Given the description of an element on the screen output the (x, y) to click on. 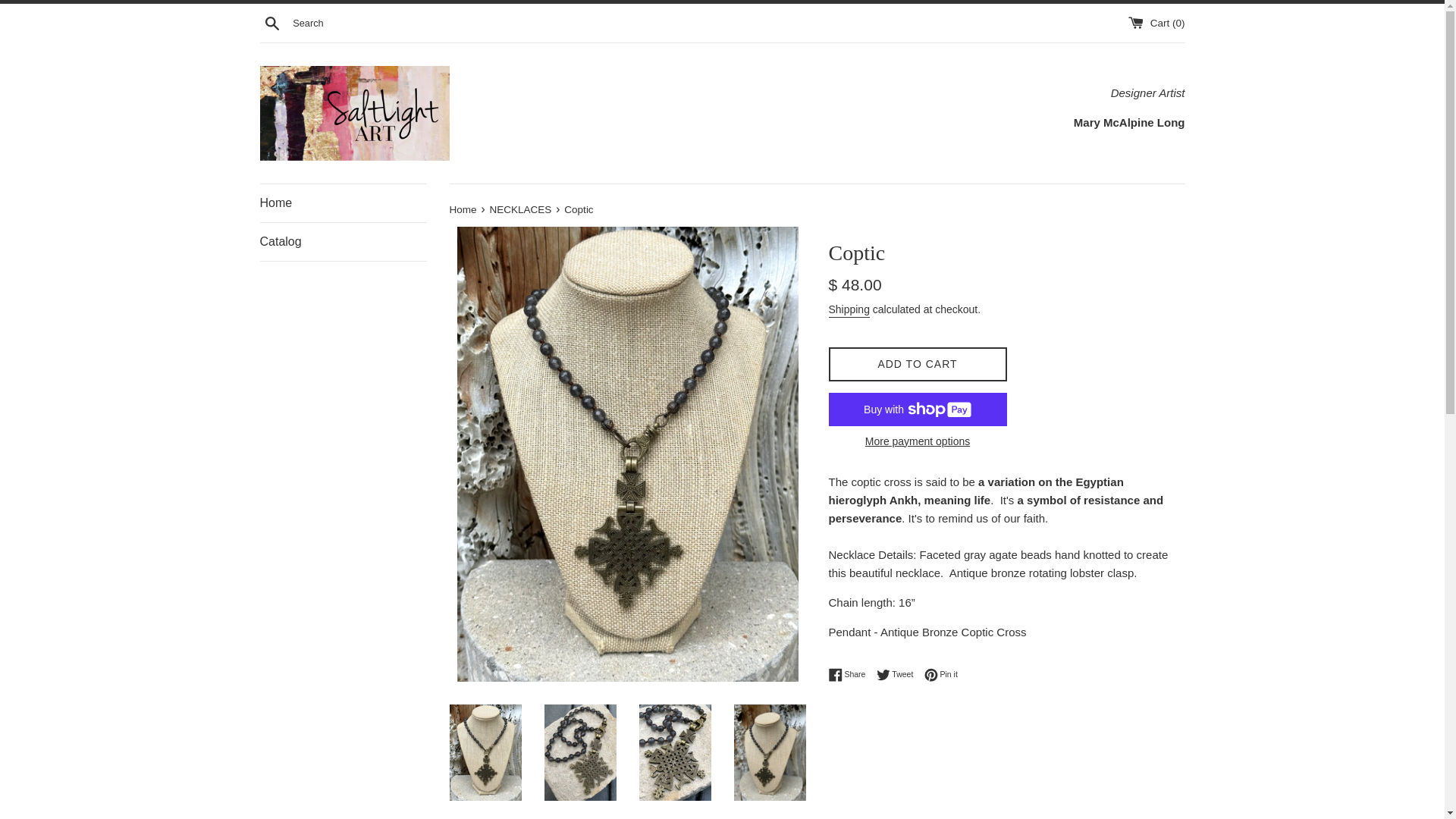
Shipping (848, 310)
Home (463, 209)
NECKLACES (521, 209)
Back to the frontpage (463, 209)
Tweet on Twitter (850, 674)
More payment options (898, 674)
Search (917, 441)
Pin on Pinterest (271, 21)
Catalog (941, 674)
ADD TO CART (342, 241)
Home (941, 674)
Share on Facebook (917, 364)
